Given the description of an element on the screen output the (x, y) to click on. 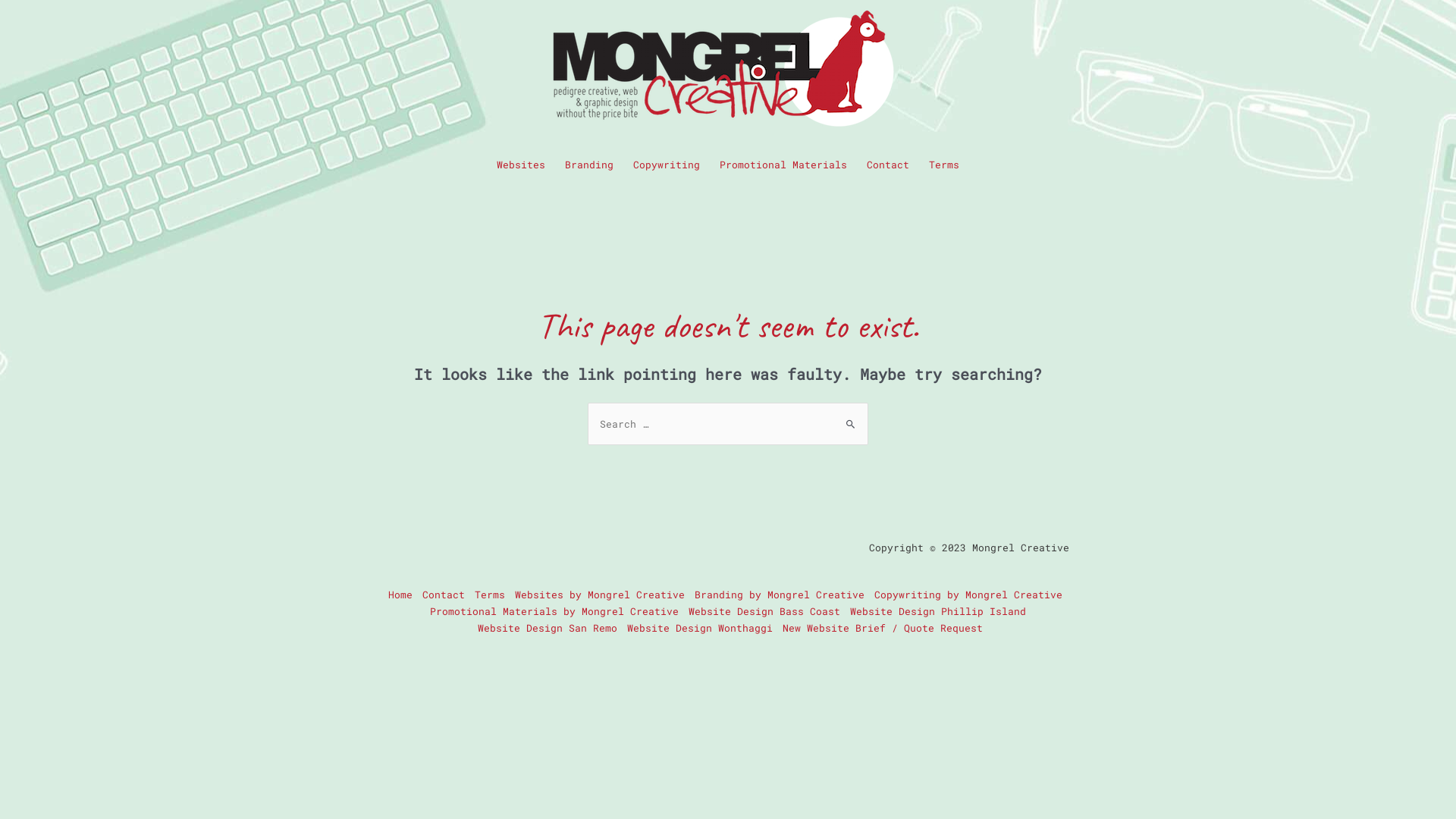
Website Design Wonthaggi Element type: text (700, 627)
Copywriting Element type: text (666, 164)
Contact Element type: text (887, 164)
Copywriting by Mongrel Creative Element type: text (968, 594)
Branding by Mongrel Creative Element type: text (779, 594)
Websites by Mongrel Creative Element type: text (600, 594)
Websites Element type: text (520, 164)
Website Design Bass Coast Element type: text (764, 610)
Terms Element type: text (490, 594)
Home Element type: text (402, 594)
New Website Brief / Quote Request Element type: text (880, 627)
Branding Element type: text (589, 164)
Search Element type: text (851, 417)
Website Design Phillip Island Element type: text (937, 610)
Promotional Materials Element type: text (782, 164)
Website Design San Remo Element type: text (547, 627)
Terms Element type: text (944, 164)
Promotional Materials by Mongrel Creative Element type: text (553, 610)
Contact Element type: text (443, 594)
